Given the description of an element on the screen output the (x, y) to click on. 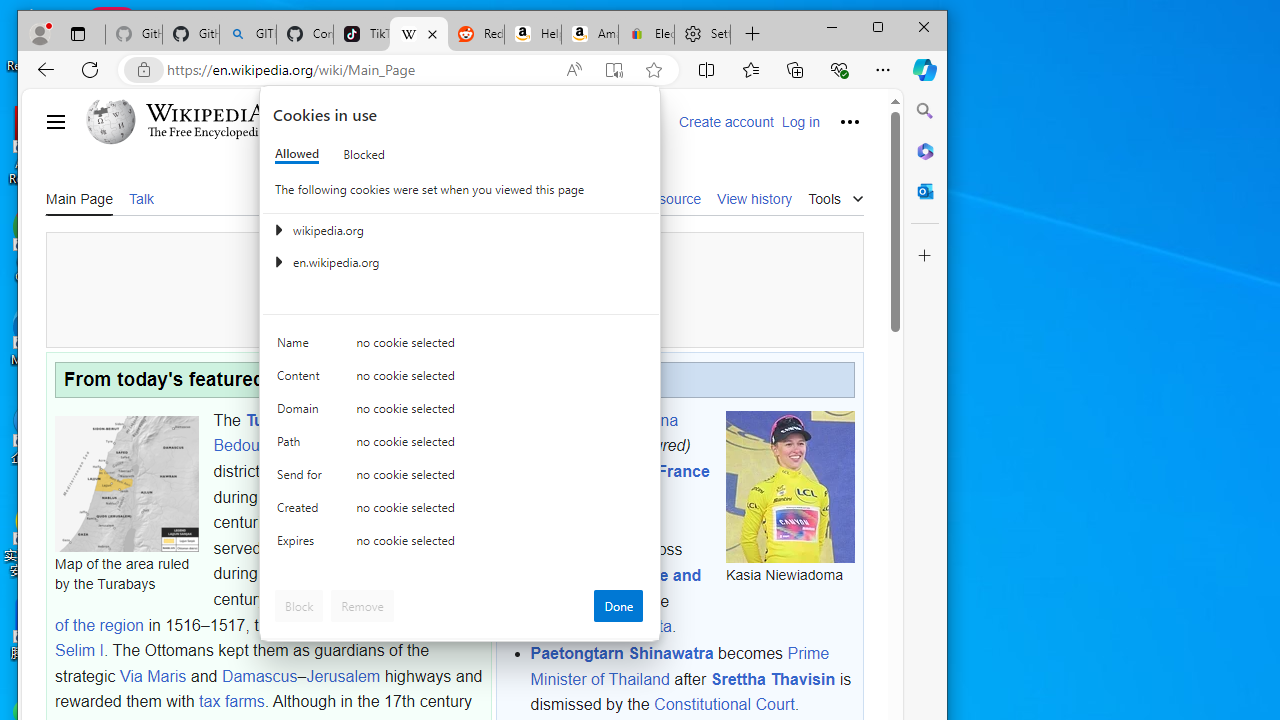
Created (302, 511)
Blocked (363, 153)
Name (302, 346)
Content (302, 380)
Path (302, 446)
Done (617, 605)
Remove (362, 605)
Block (299, 605)
no cookie selected (500, 544)
Send for (302, 479)
Allowed (296, 153)
Class: c0153 c0157 (460, 545)
Domain (302, 413)
Expires (302, 544)
Class: c0153 c0157 c0154 (460, 347)
